Given the description of an element on the screen output the (x, y) to click on. 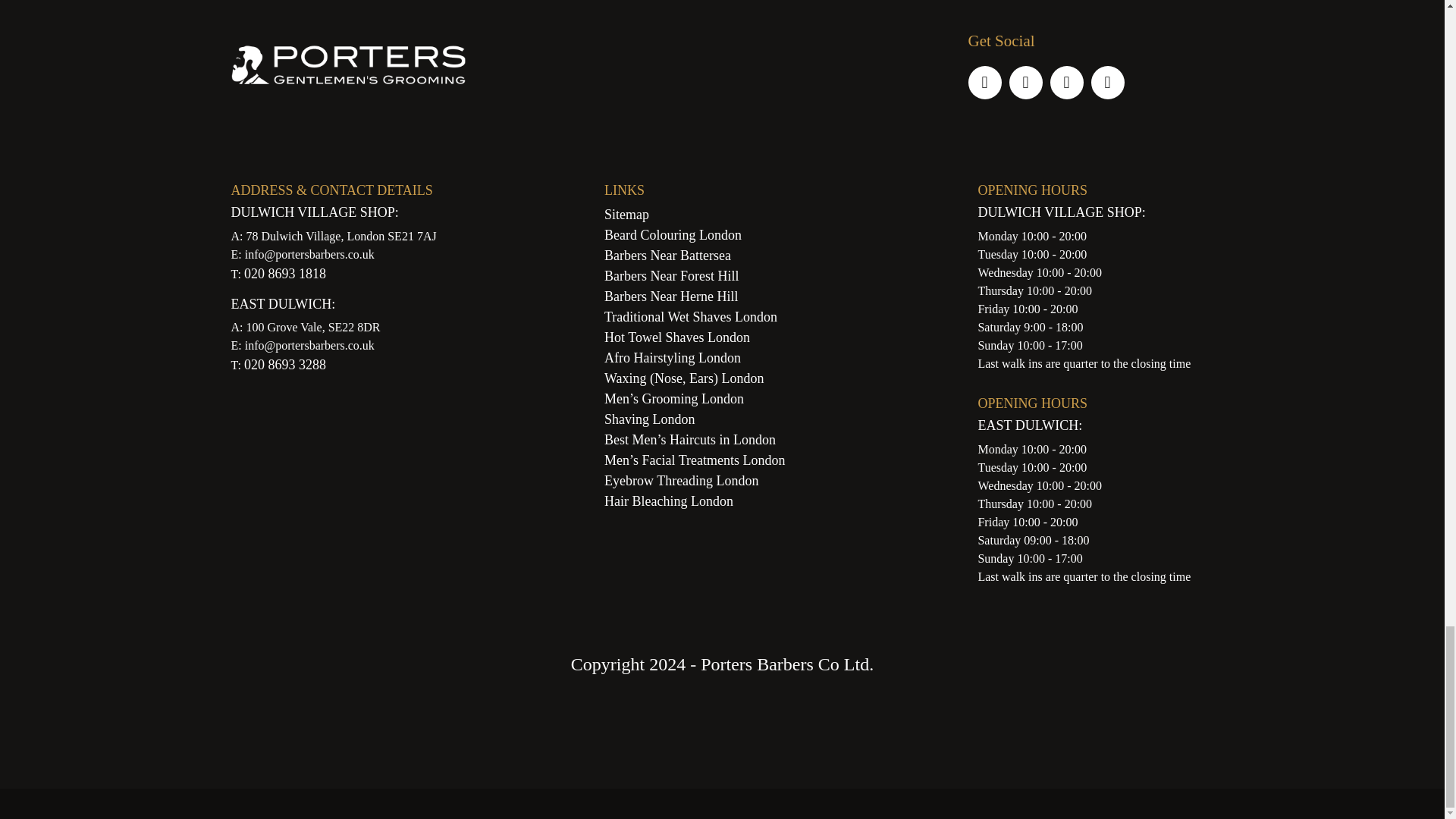
Sitemap (626, 214)
Barbers Near Forest Hill (671, 275)
Barbers Near Herne Hill (671, 296)
020 8693 1818 (285, 273)
Shaving London (649, 418)
Hair Bleaching London (668, 500)
Eyebrow Threading London (681, 480)
Traditional Wet Shaves London (690, 316)
Afro Hairstyling London (672, 357)
Barbers Near Battersea (667, 255)
